Given the description of an element on the screen output the (x, y) to click on. 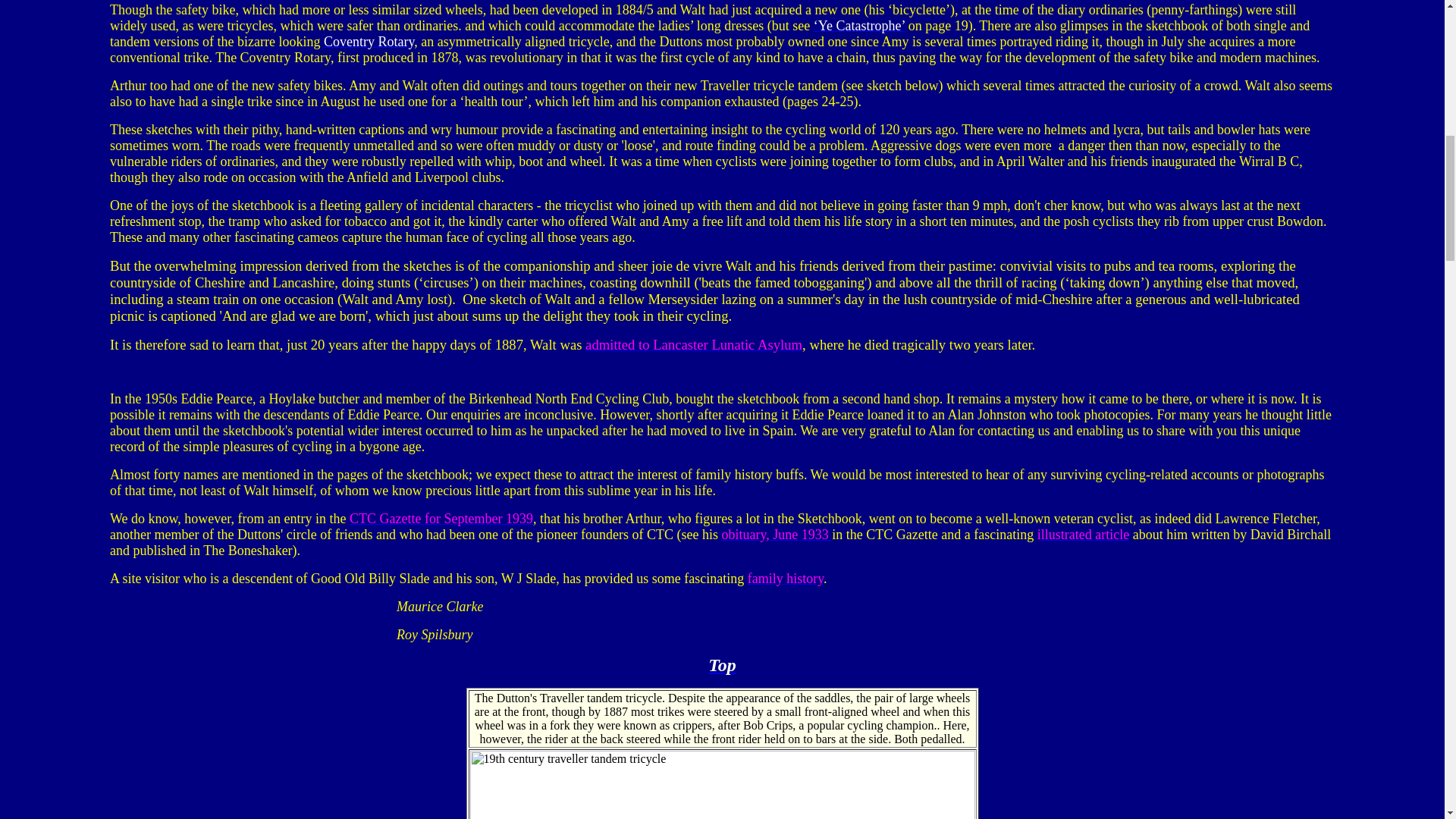
Coventry Rotary (368, 41)
admitted to Lancaster Lunatic Asylum (693, 344)
Top (721, 664)
family history (786, 578)
llustrated article (1085, 534)
obituary, June 1933 (777, 534)
CTC Gazette for September 1939 (440, 518)
Traveller tandem (581, 697)
